Given the description of an element on the screen output the (x, y) to click on. 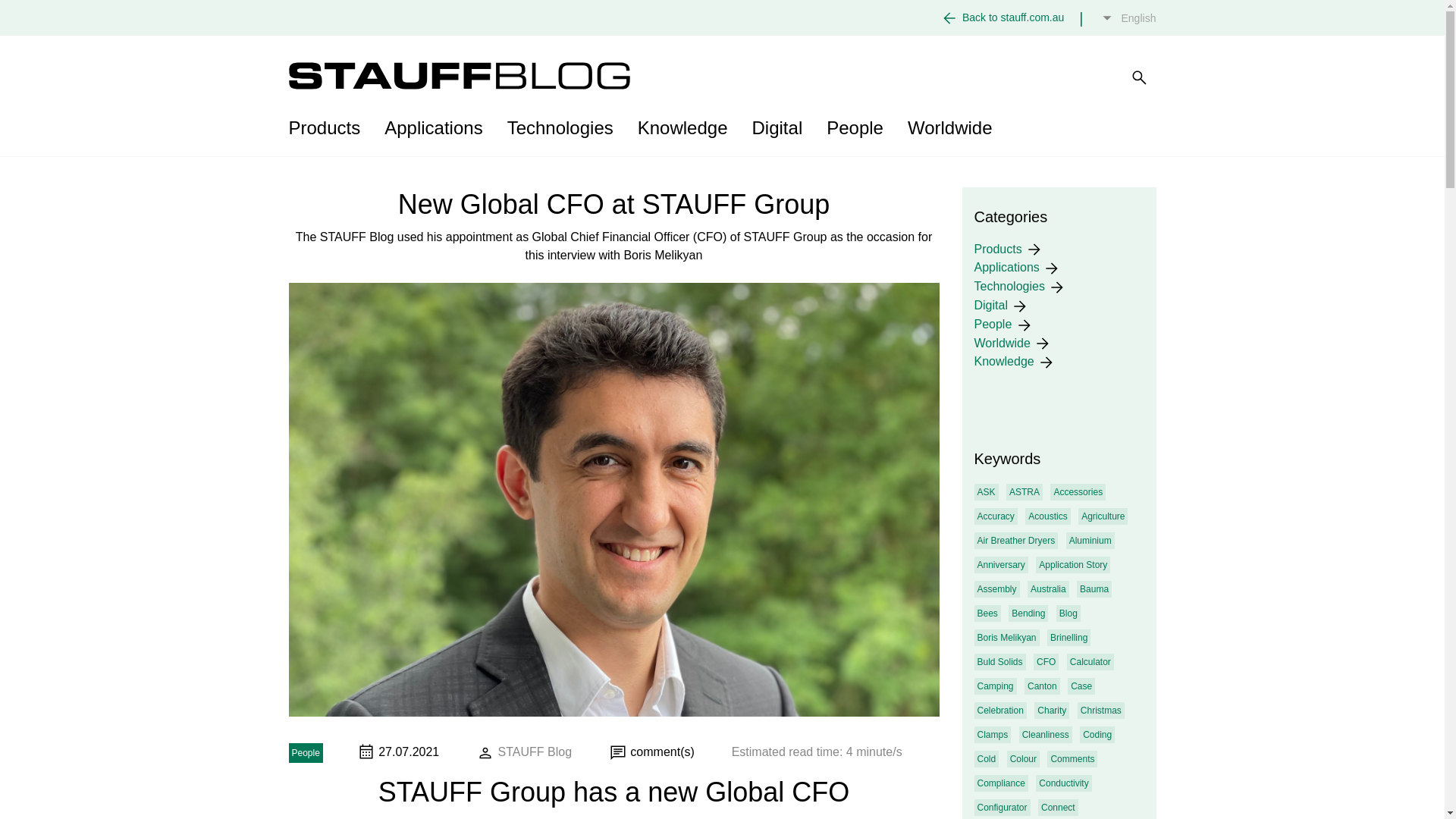
Back to stauff.com.au (1013, 17)
chat (617, 752)
arrow-left (949, 18)
STAUFF Blog Logo (458, 75)
Worldwide (949, 127)
Digital (777, 127)
Knowledge (682, 127)
person (485, 752)
People (854, 127)
calendar (365, 751)
